Given the description of an element on the screen output the (x, y) to click on. 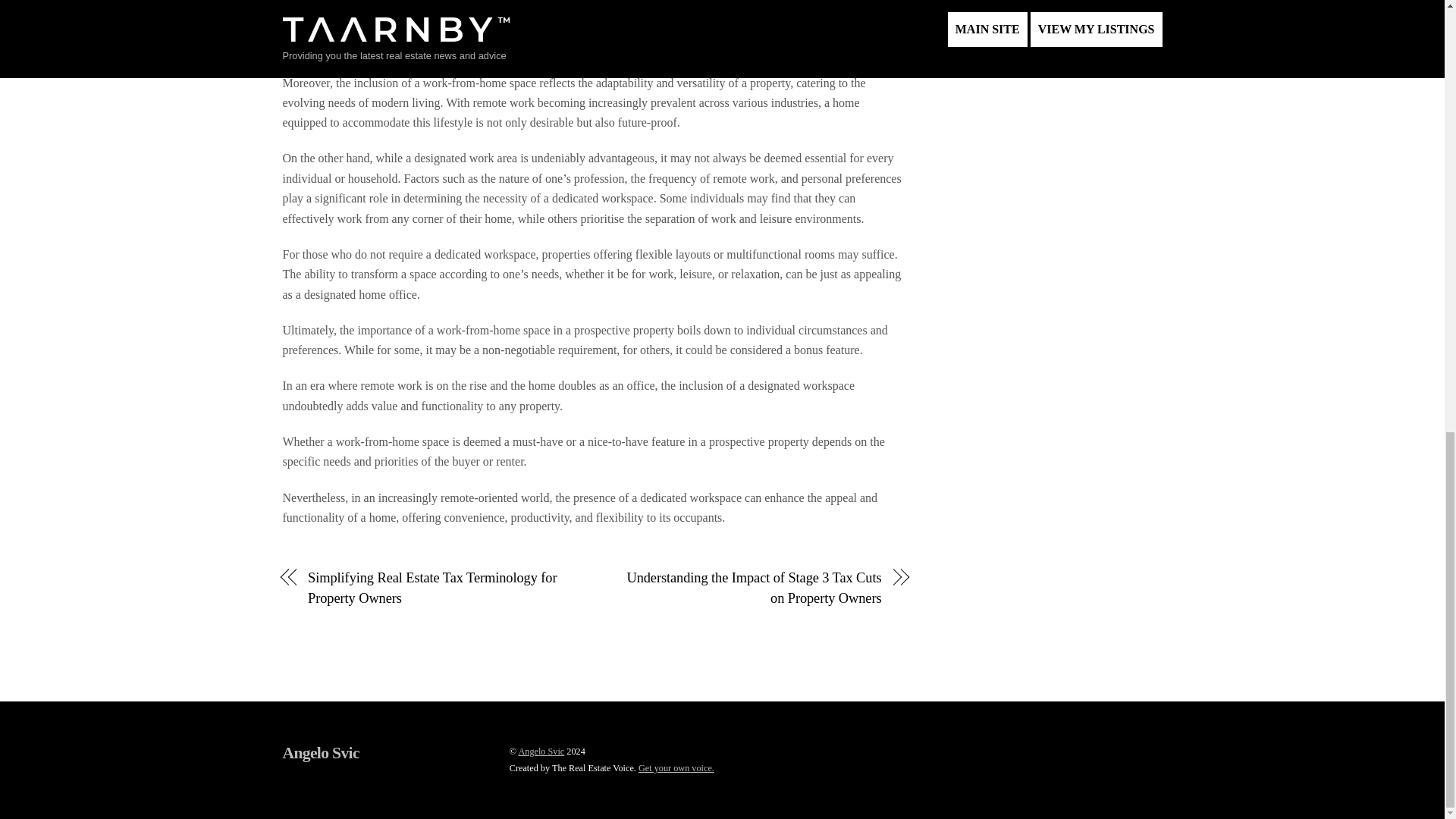
Get your own voice. (676, 767)
Angelo Svic (320, 752)
Angelo Svic (541, 751)
Angelo Svic (320, 752)
Simplifying Real Estate Tax Terminology for Property Owners (441, 588)
